Given the description of an element on the screen output the (x, y) to click on. 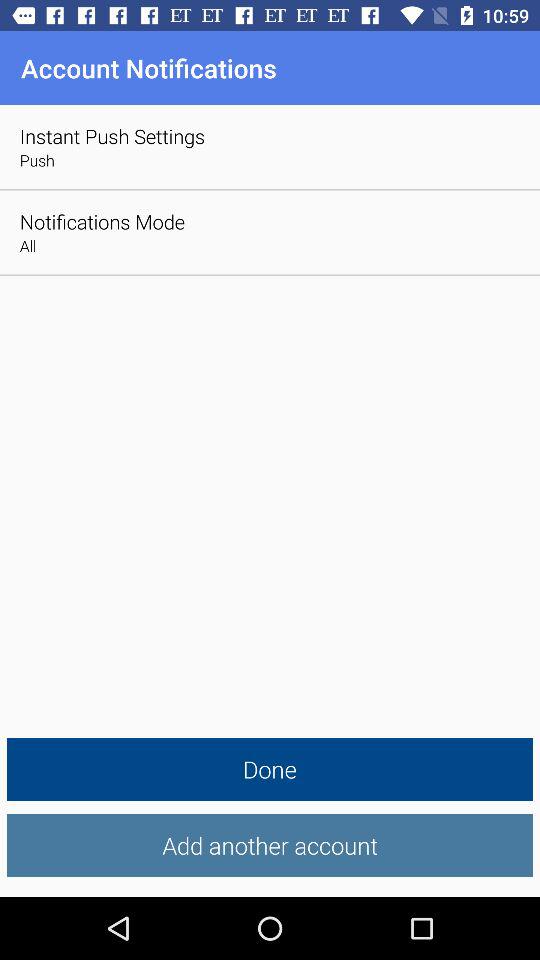
choose done (269, 769)
